Given the description of an element on the screen output the (x, y) to click on. 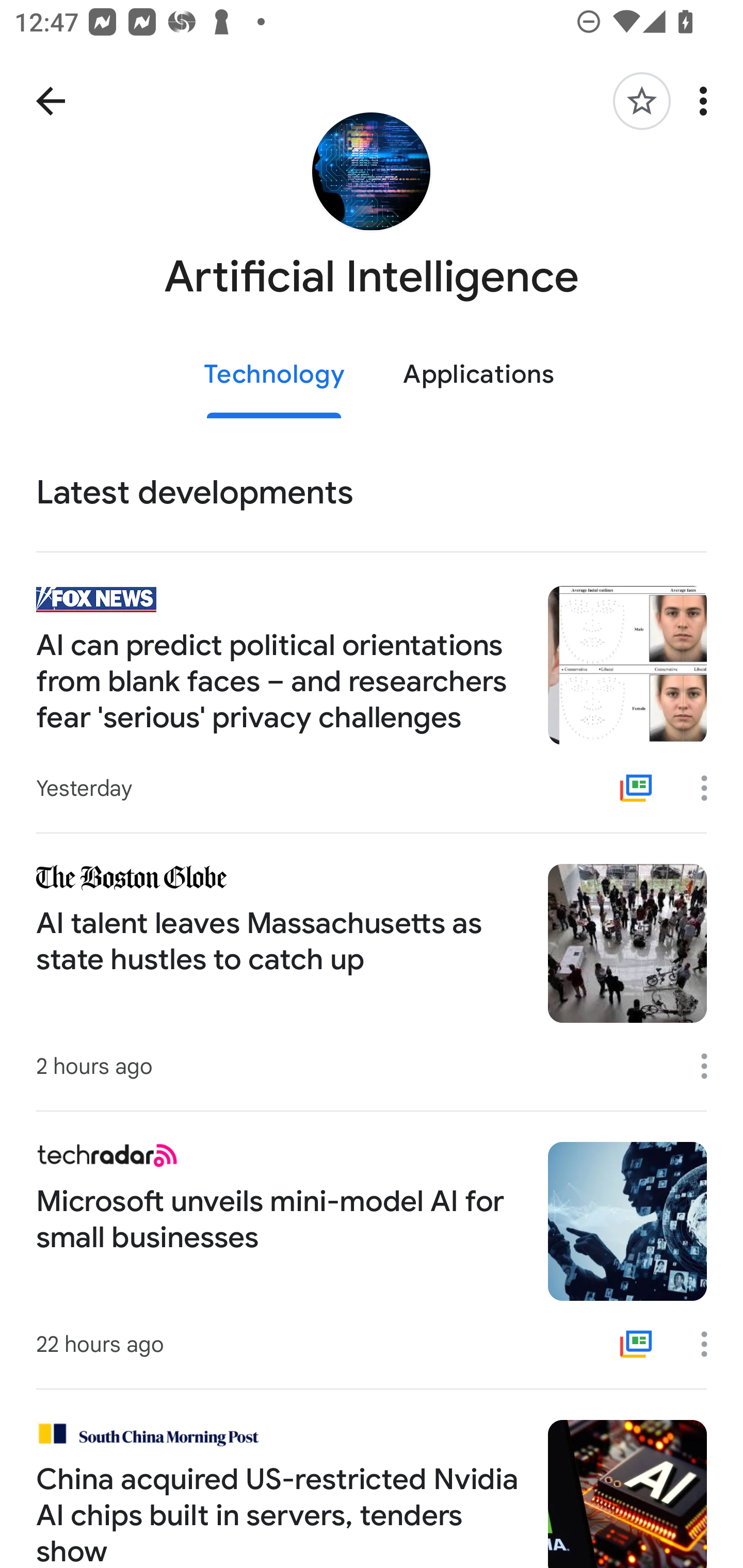
Navigate up (50, 101)
More options (706, 101)
Applications (478, 375)
Latest developments (371, 492)
More options (711, 787)
More options (711, 1066)
More options (711, 1344)
